Given the description of an element on the screen output the (x, y) to click on. 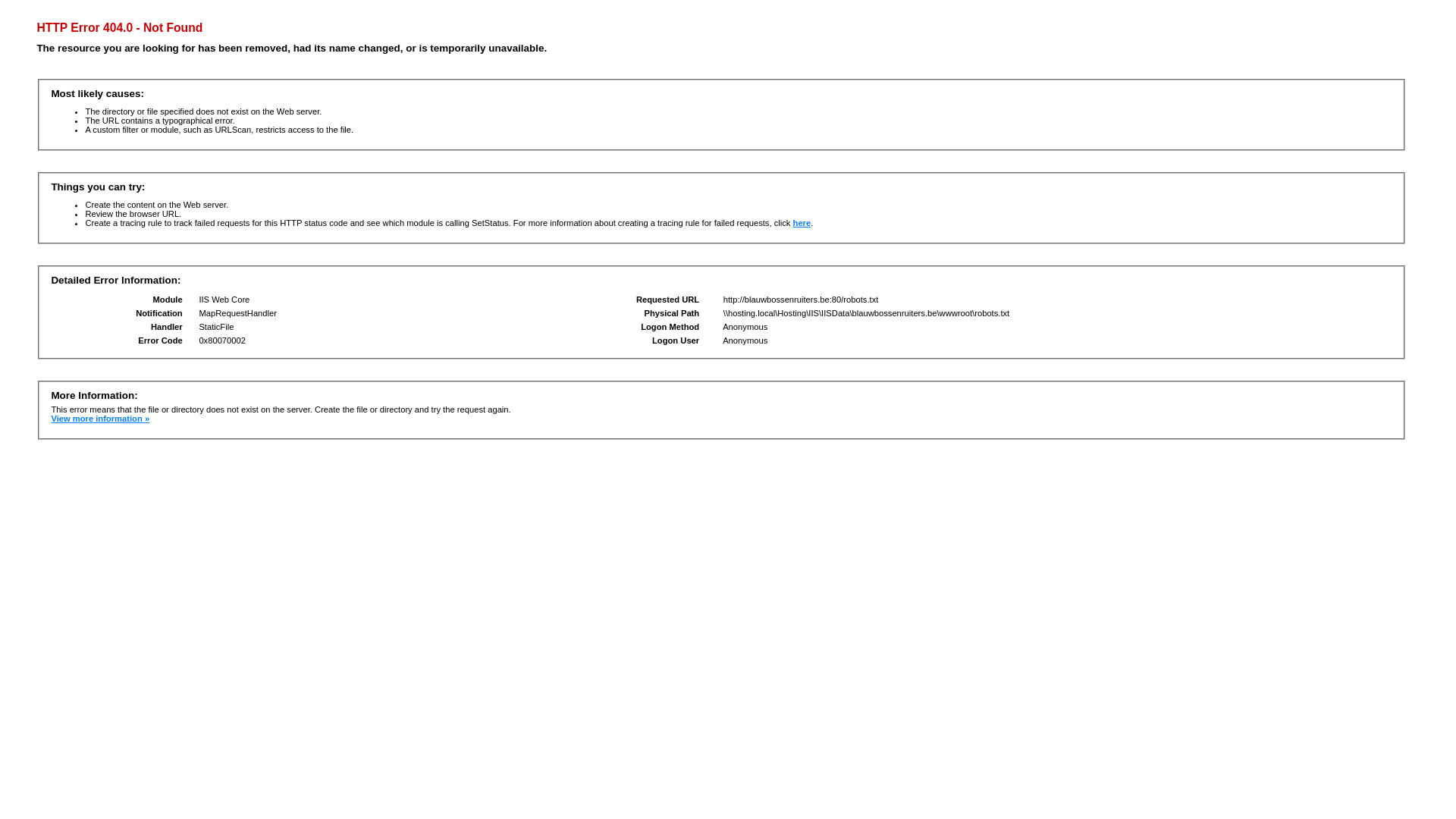
here Element type: text (802, 222)
